Given the description of an element on the screen output the (x, y) to click on. 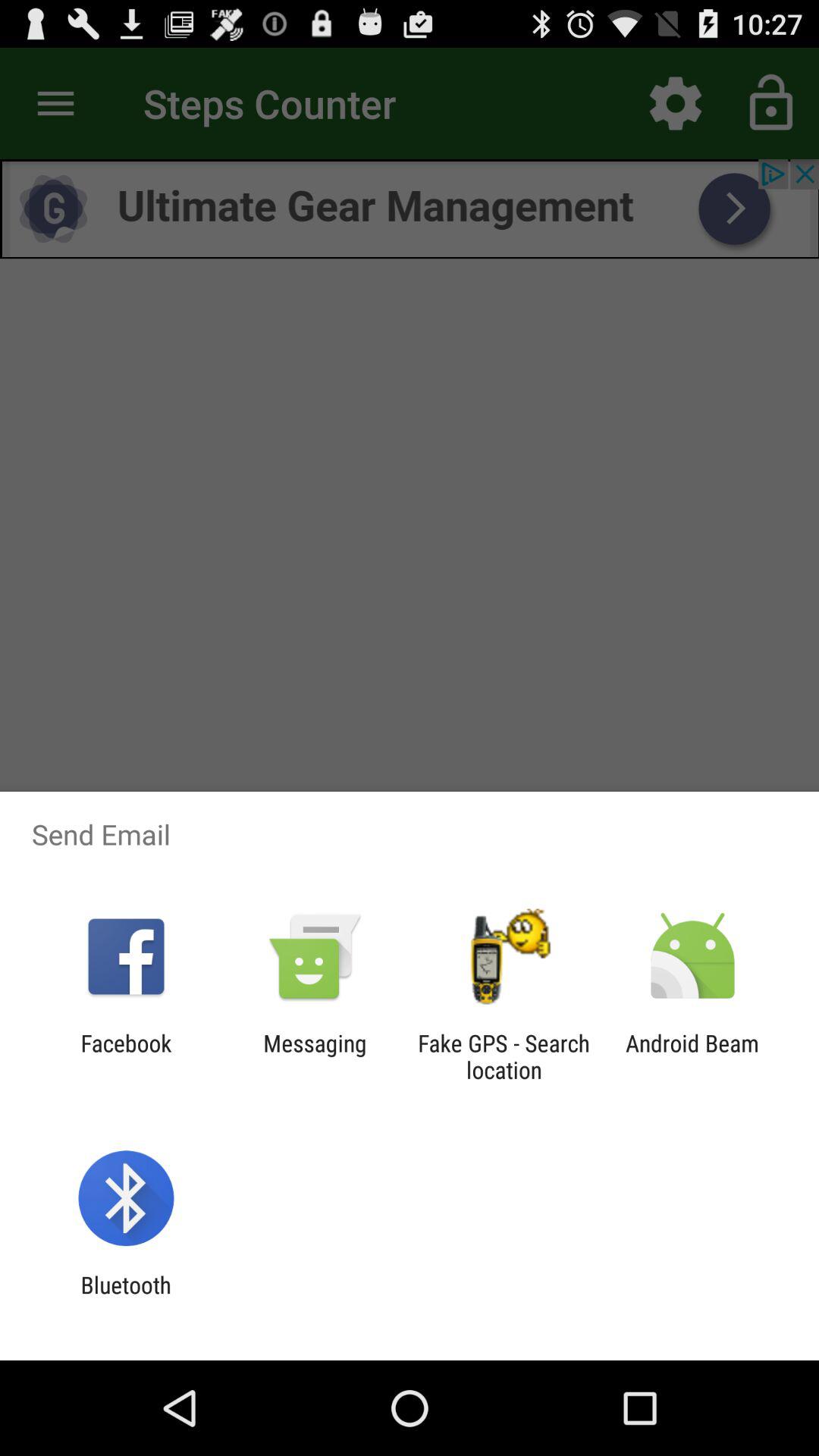
select messaging app (314, 1056)
